Given the description of an element on the screen output the (x, y) to click on. 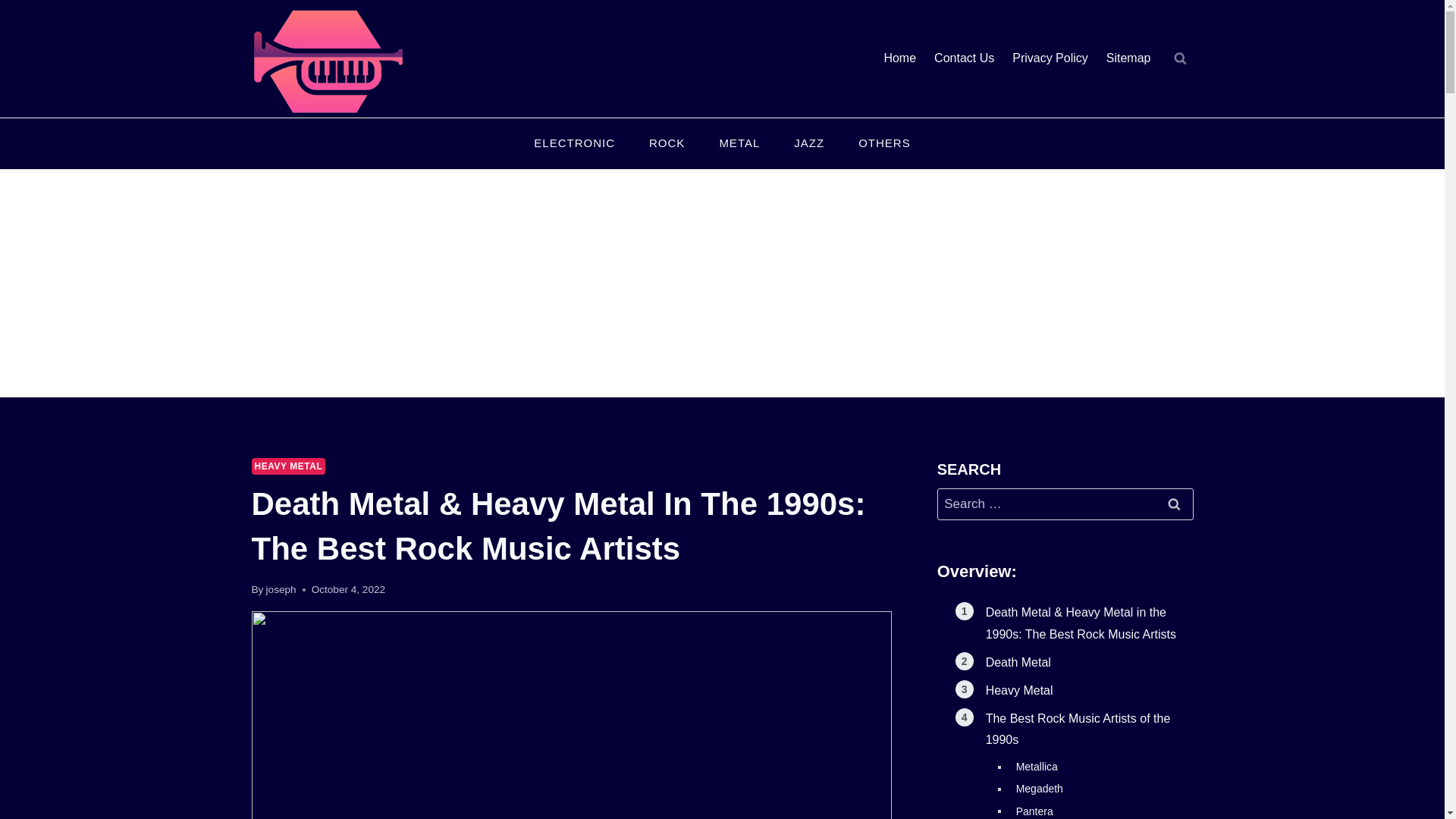
Contact Us (963, 58)
Privacy Policy (1050, 58)
ROCK (666, 143)
METAL (739, 143)
Home (899, 58)
OTHERS (884, 143)
joseph (281, 589)
Search (1174, 504)
ELECTRONIC (573, 143)
